Given the description of an element on the screen output the (x, y) to click on. 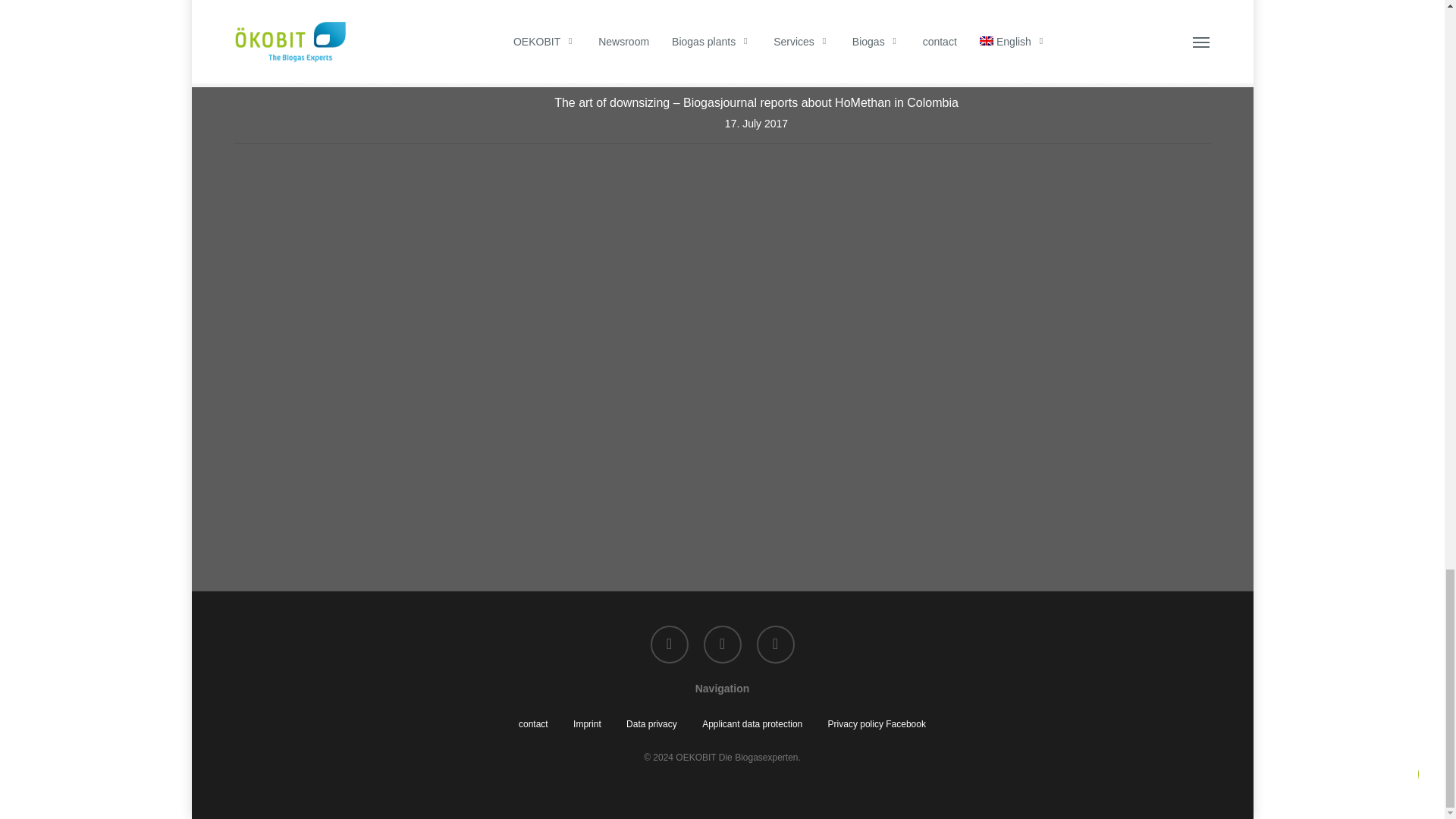
facebook (669, 644)
